Given the description of an element on the screen output the (x, y) to click on. 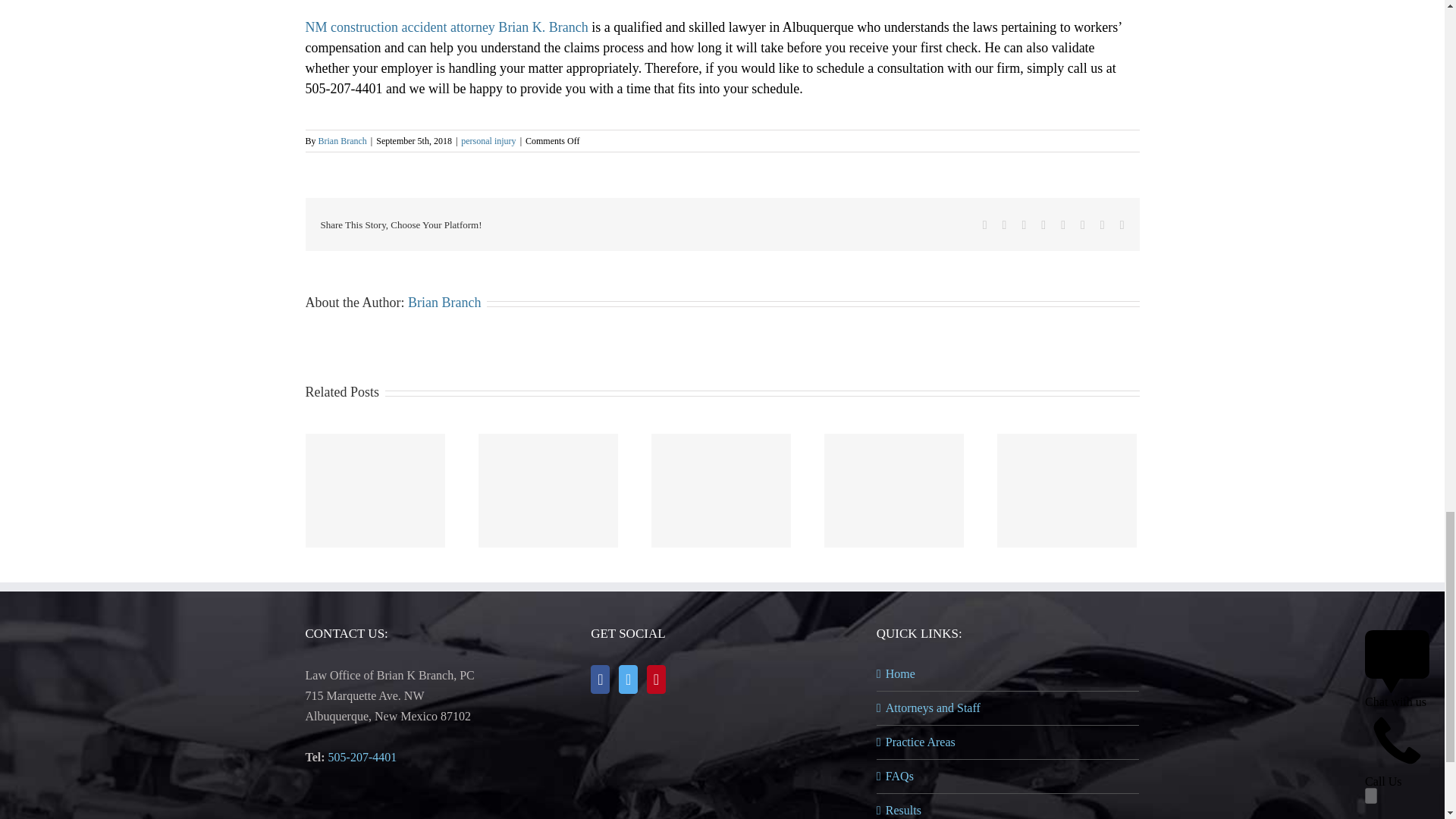
Posts by Brian Branch (342, 140)
Posts by Brian Branch (443, 302)
